Given the description of an element on the screen output the (x, y) to click on. 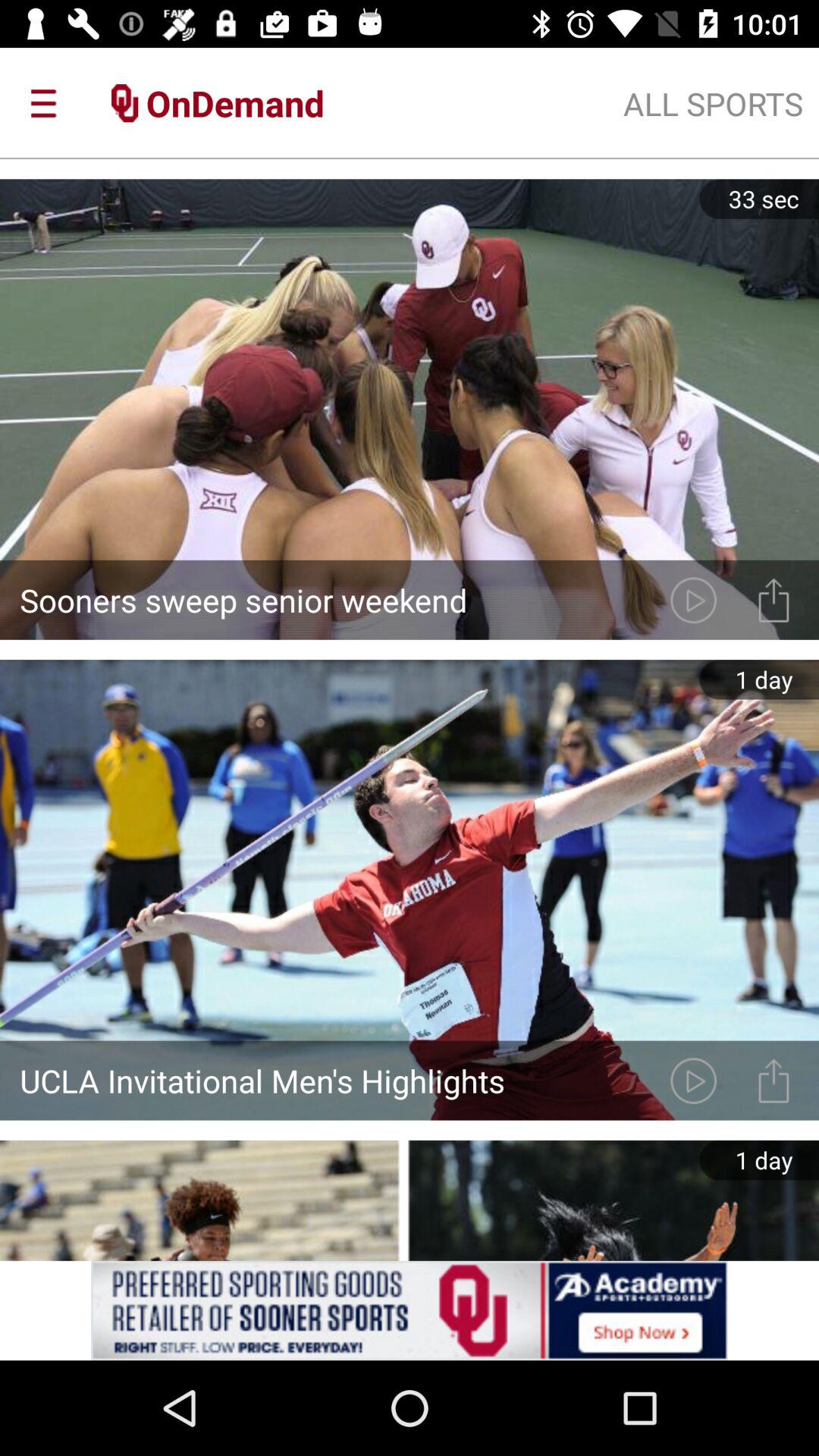
advertisement (409, 1310)
